Given the description of an element on the screen output the (x, y) to click on. 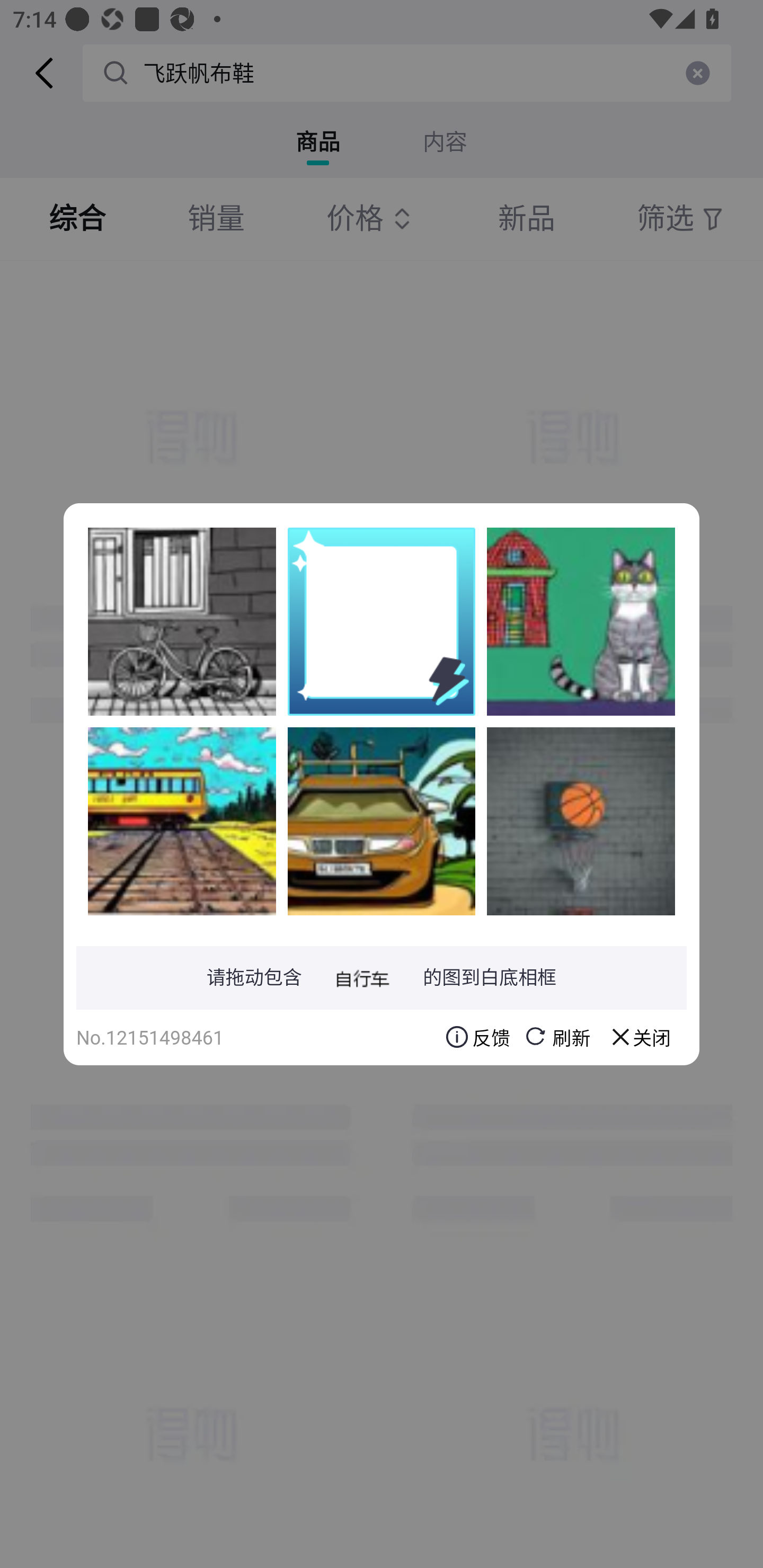
SL3uixTv3E7yf36OKf9Aptx8mAkKoc7PjdzUQJ (580, 621)
IKLueu4X (181, 820)
S4zzISfamUDmJohxZvIwFWYEU5waTnx (381, 820)
